Given the description of an element on the screen output the (x, y) to click on. 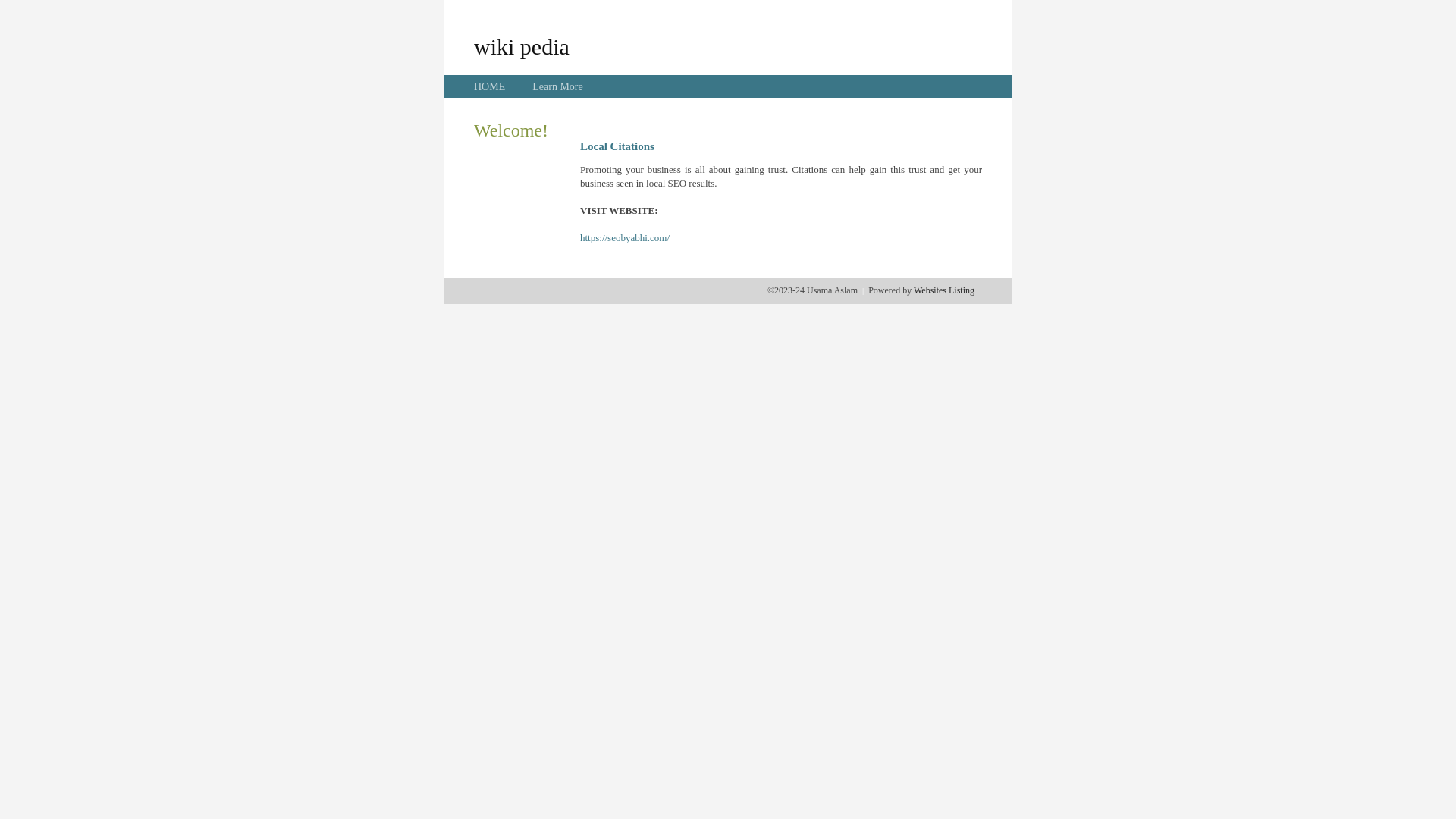
Learn More Element type: text (557, 86)
wiki pedia Element type: text (521, 46)
https://seobyabhi.com/ Element type: text (624, 237)
Websites Listing Element type: text (943, 290)
HOME Element type: text (489, 86)
